Given the description of an element on the screen output the (x, y) to click on. 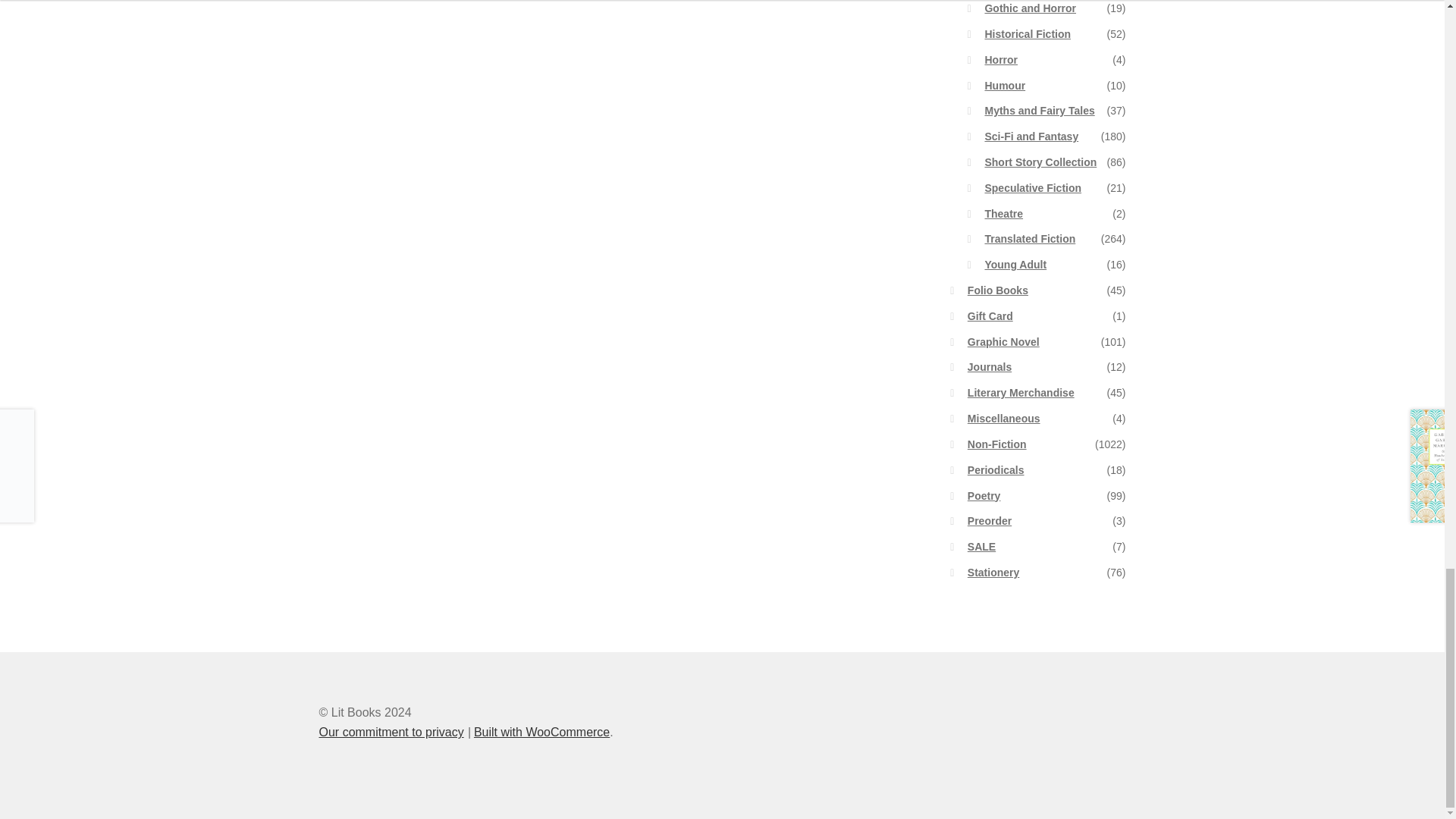
WooCommerce - The Best eCommerce Platform for WordPress (542, 731)
